Given the description of an element on the screen output the (x, y) to click on. 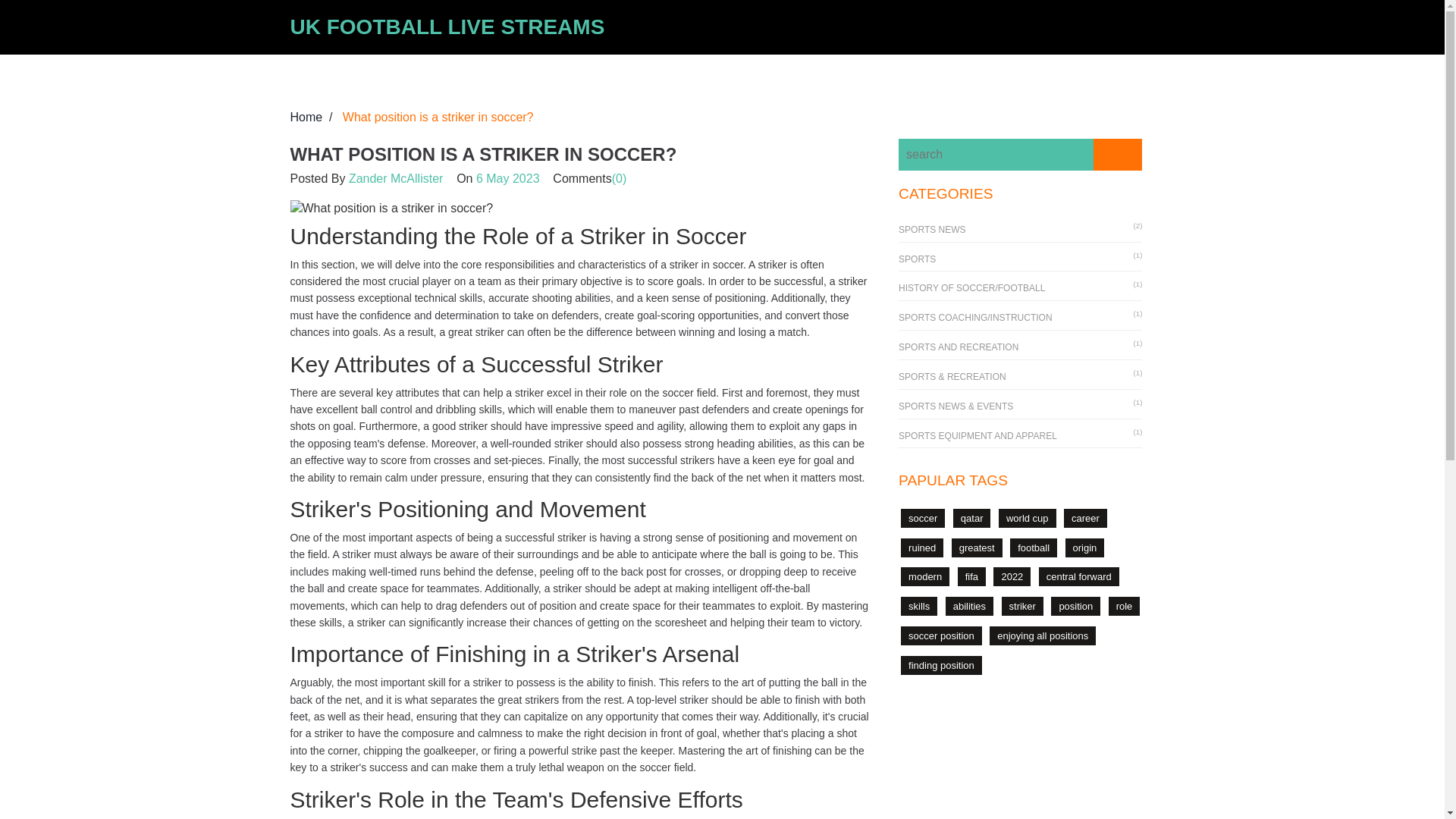
position (1075, 606)
2022 (1011, 576)
abilities (968, 606)
career (1085, 517)
modern (925, 576)
fifa (971, 576)
world cup (1027, 517)
central forward (1079, 576)
origin (1083, 547)
greatest (977, 547)
